Given the description of an element on the screen output the (x, y) to click on. 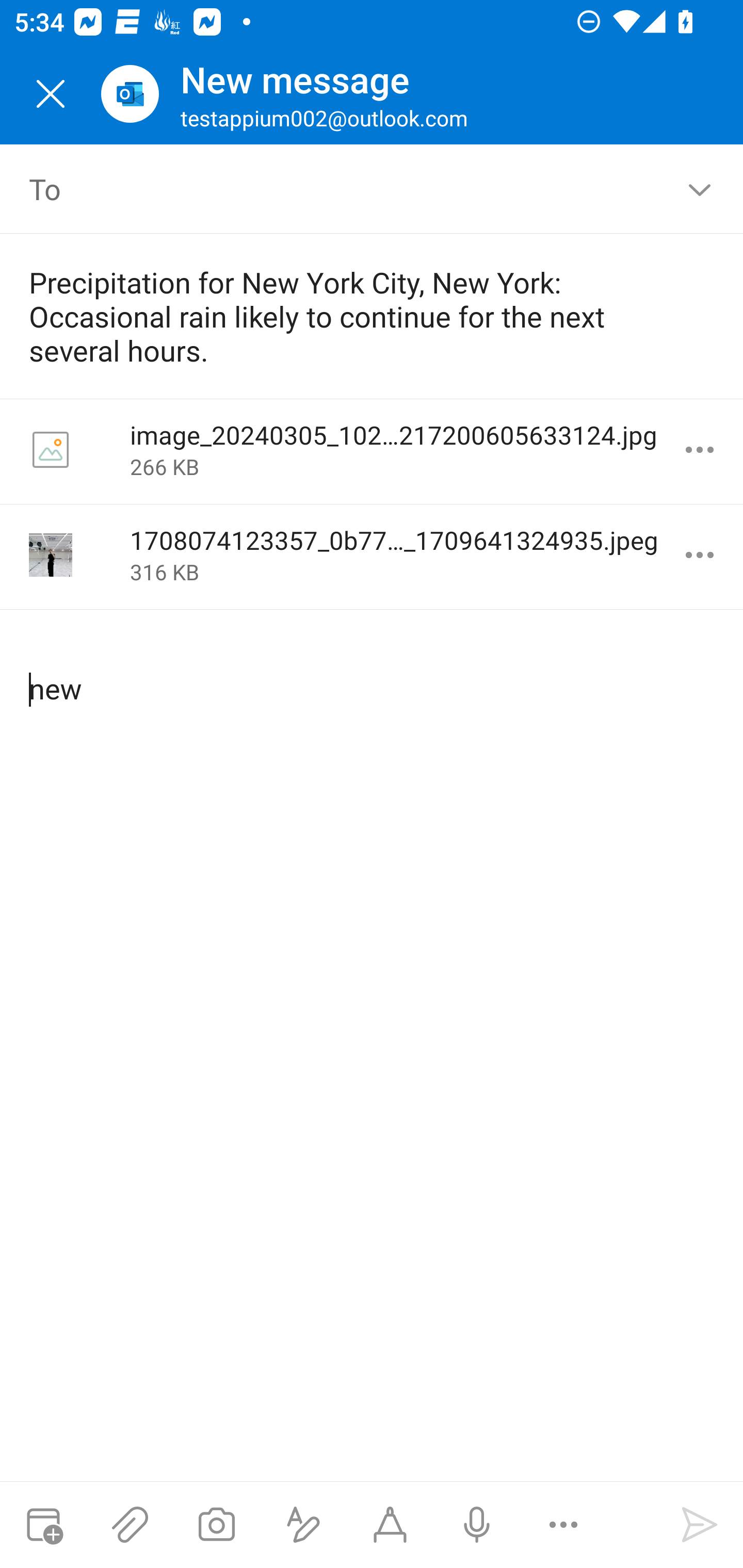
Close (50, 93)
More options (699, 449)
More options (699, 554)

new (372, 671)
Attach meeting (43, 1524)
Attach files (129, 1524)
Take a photo (216, 1524)
Show formatting options (303, 1524)
Start Ink compose (389, 1524)
Dictation (476, 1524)
More options (563, 1524)
Send (699, 1524)
